Given the description of an element on the screen output the (x, y) to click on. 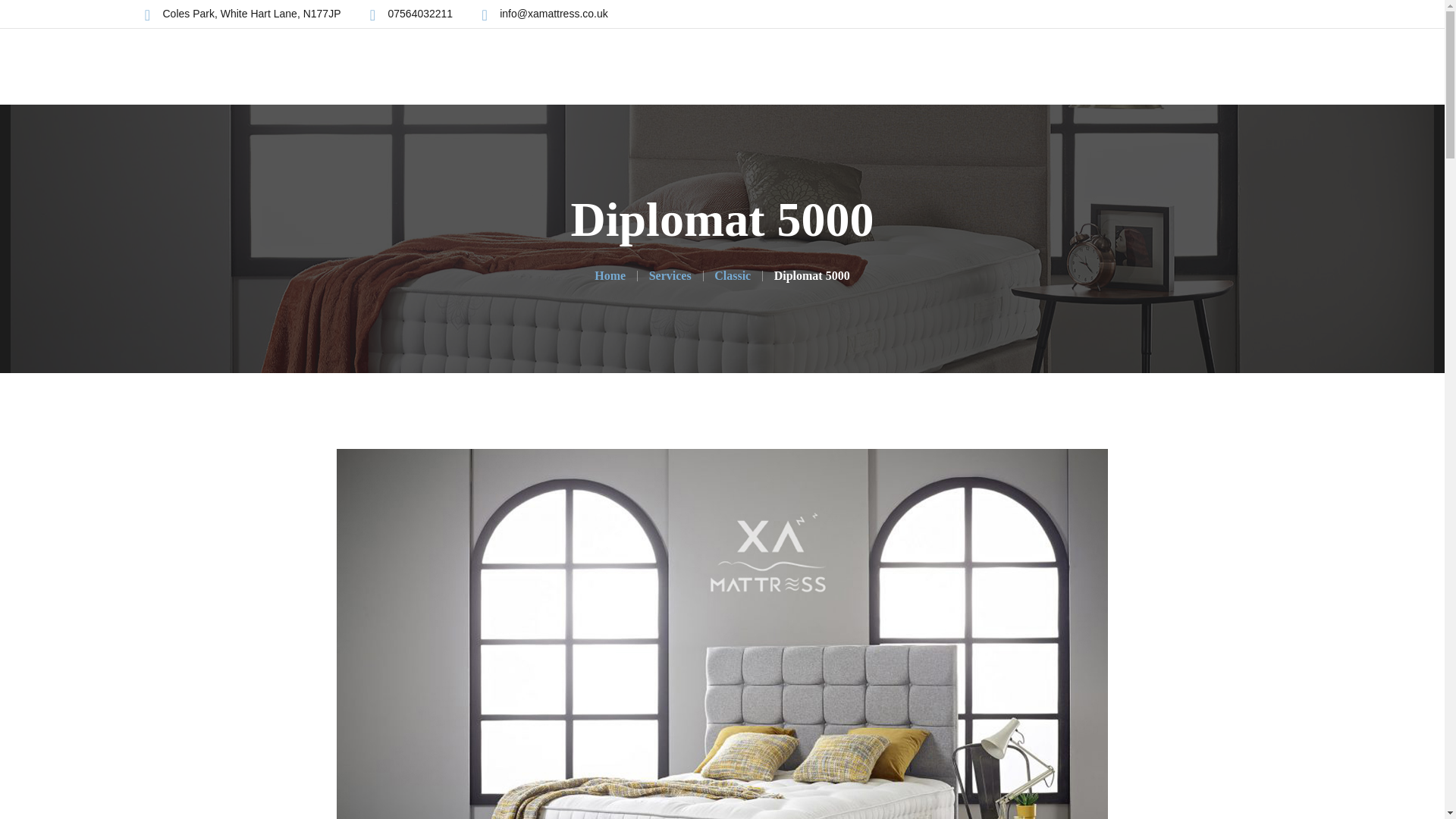
Home (610, 275)
Services (670, 275)
07564032211 (420, 13)
Go to Home. (610, 275)
Go to the Classic Category archives. (732, 275)
Coles Park, White Hart Lane, N177JP (250, 13)
Go to Services. (670, 275)
Classic (732, 275)
